Given the description of an element on the screen output the (x, y) to click on. 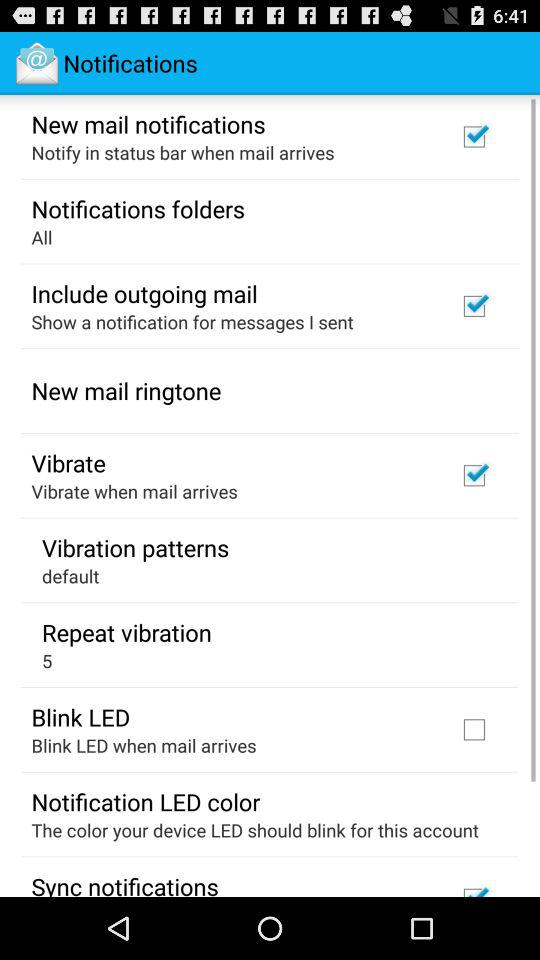
click the app above the show a notification item (144, 293)
